Given the description of an element on the screen output the (x, y) to click on. 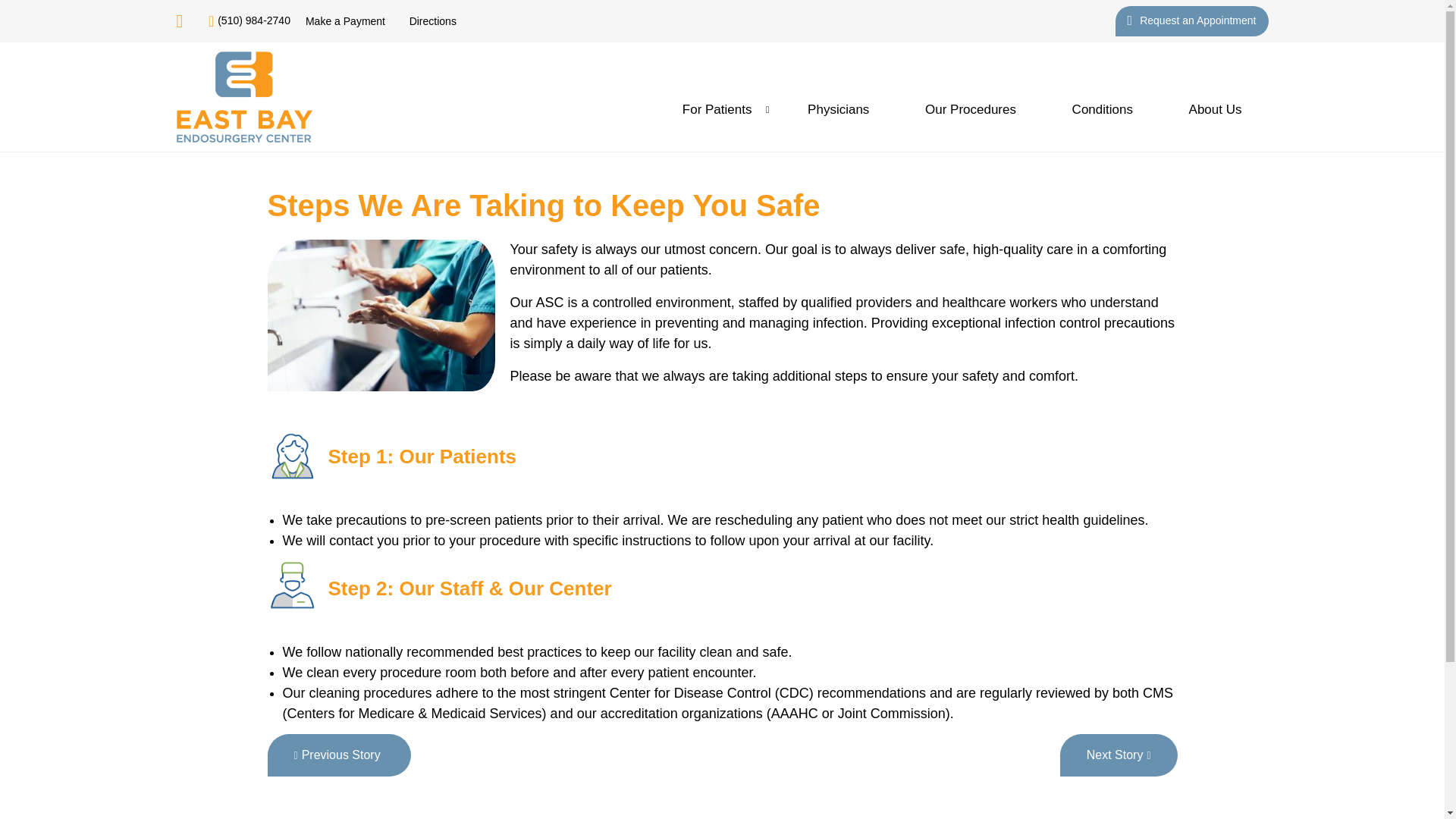
Next Story (1118, 754)
Conditions (1101, 109)
Previous Story (338, 754)
Directions (433, 21)
East Bay Endosurgery Center (243, 96)
For Patients (717, 109)
Make a Payment (345, 21)
Physicians (838, 109)
Our Procedures (970, 109)
Request an Appointment (1191, 20)
